Given the description of an element on the screen output the (x, y) to click on. 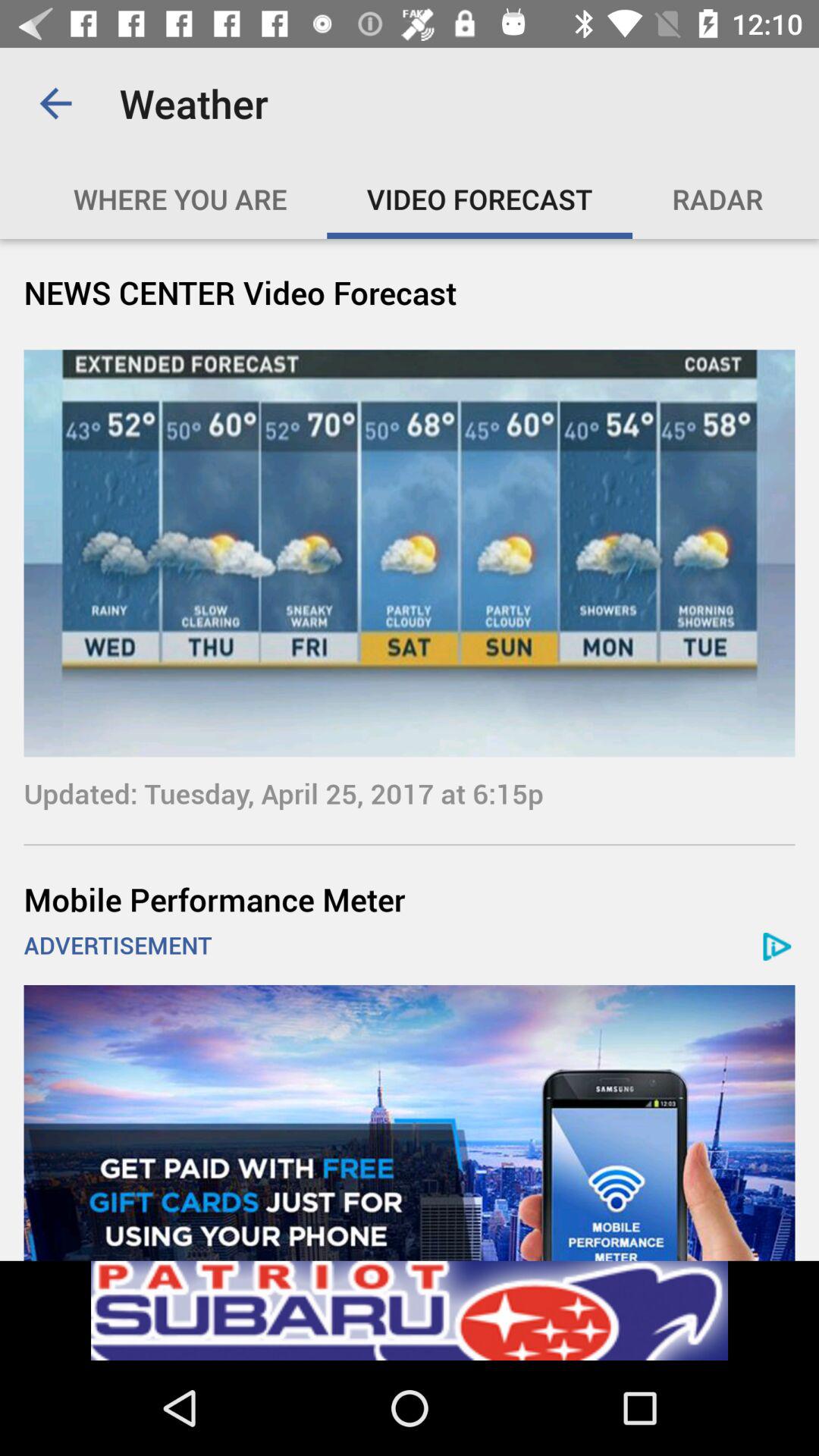
click advertisement (409, 1310)
